Given the description of an element on the screen output the (x, y) to click on. 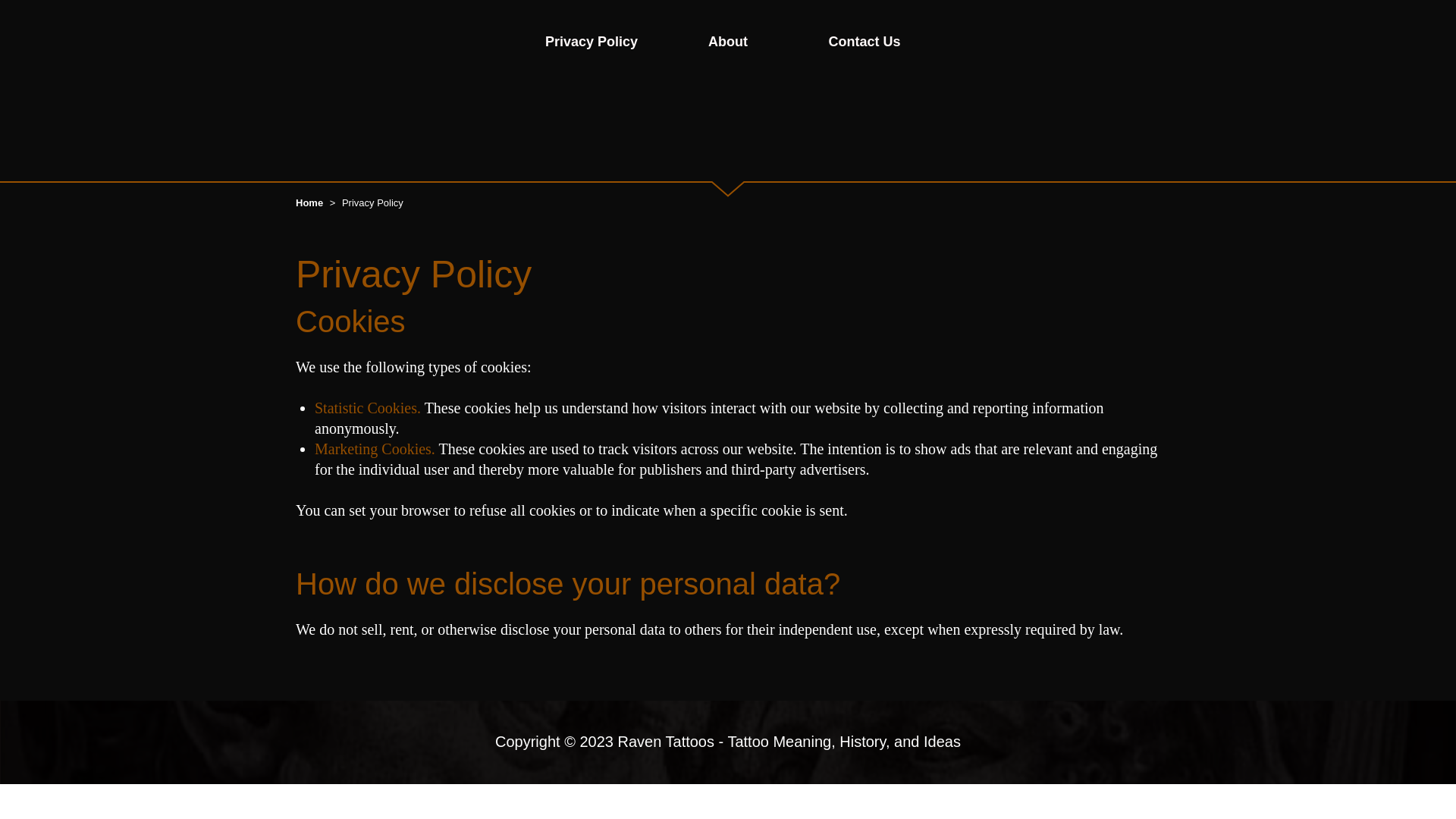
Privacy Policy (590, 41)
Contact Us (863, 41)
About (727, 41)
Home (310, 202)
